Given the description of an element on the screen output the (x, y) to click on. 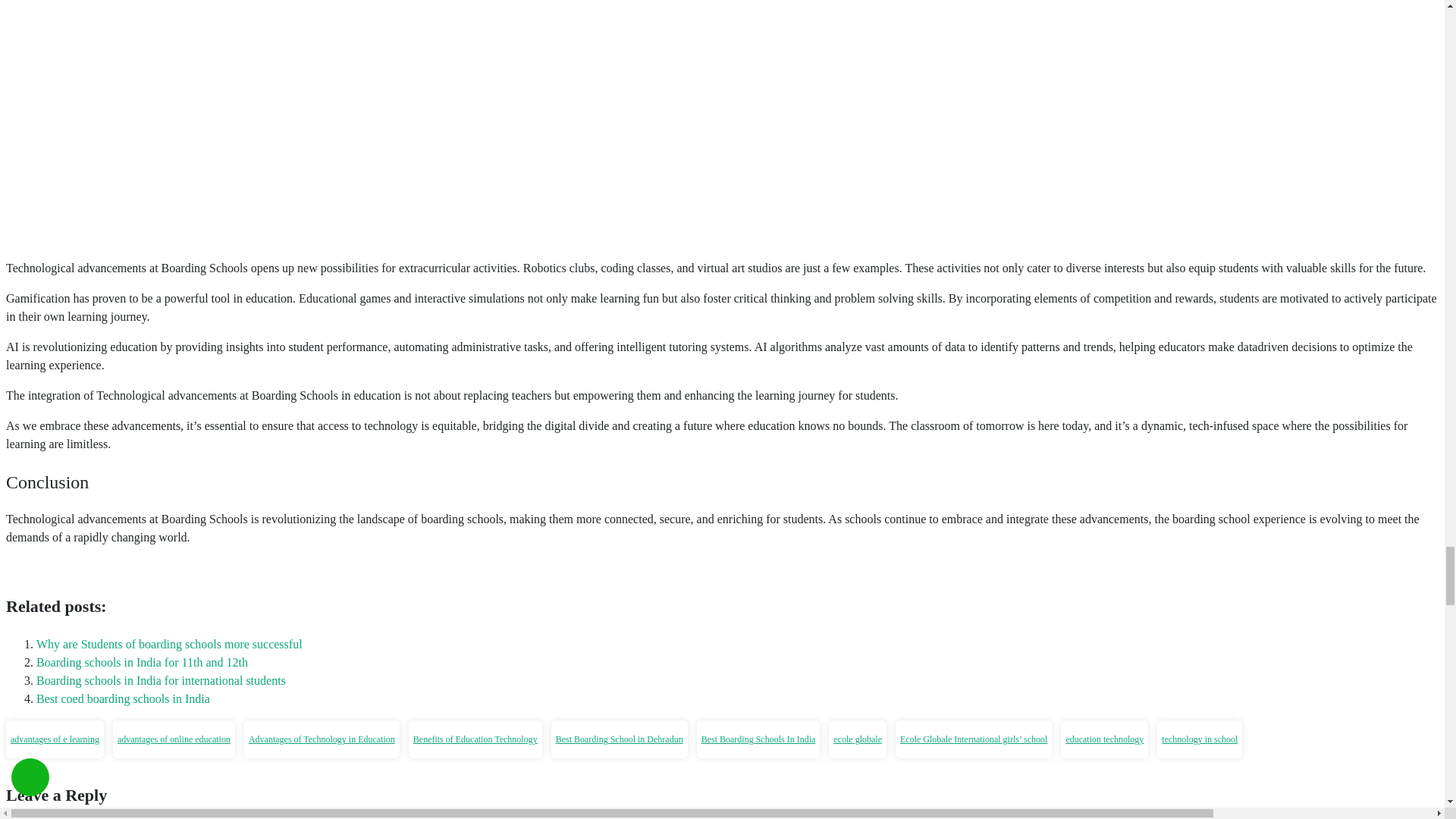
education technology (1104, 739)
Boarding schools in India for 11th and 12th (141, 662)
advantages of e learning (54, 739)
Benefits of Education Technology (475, 739)
Best Boarding School in Dehradun (619, 739)
Boarding schools in India for international students (160, 680)
Boarding schools in India for 11th and 12th (141, 662)
ecole globale (857, 739)
Why are Students of boarding schools more successful (169, 644)
Best Boarding Schools In India (759, 739)
Advantages of Technology in Education (321, 739)
Best coed boarding schools in India (122, 698)
Why are Students of boarding schools more successful (169, 644)
Boarding schools in India for international students (160, 680)
technology in school (1199, 739)
